Given the description of an element on the screen output the (x, y) to click on. 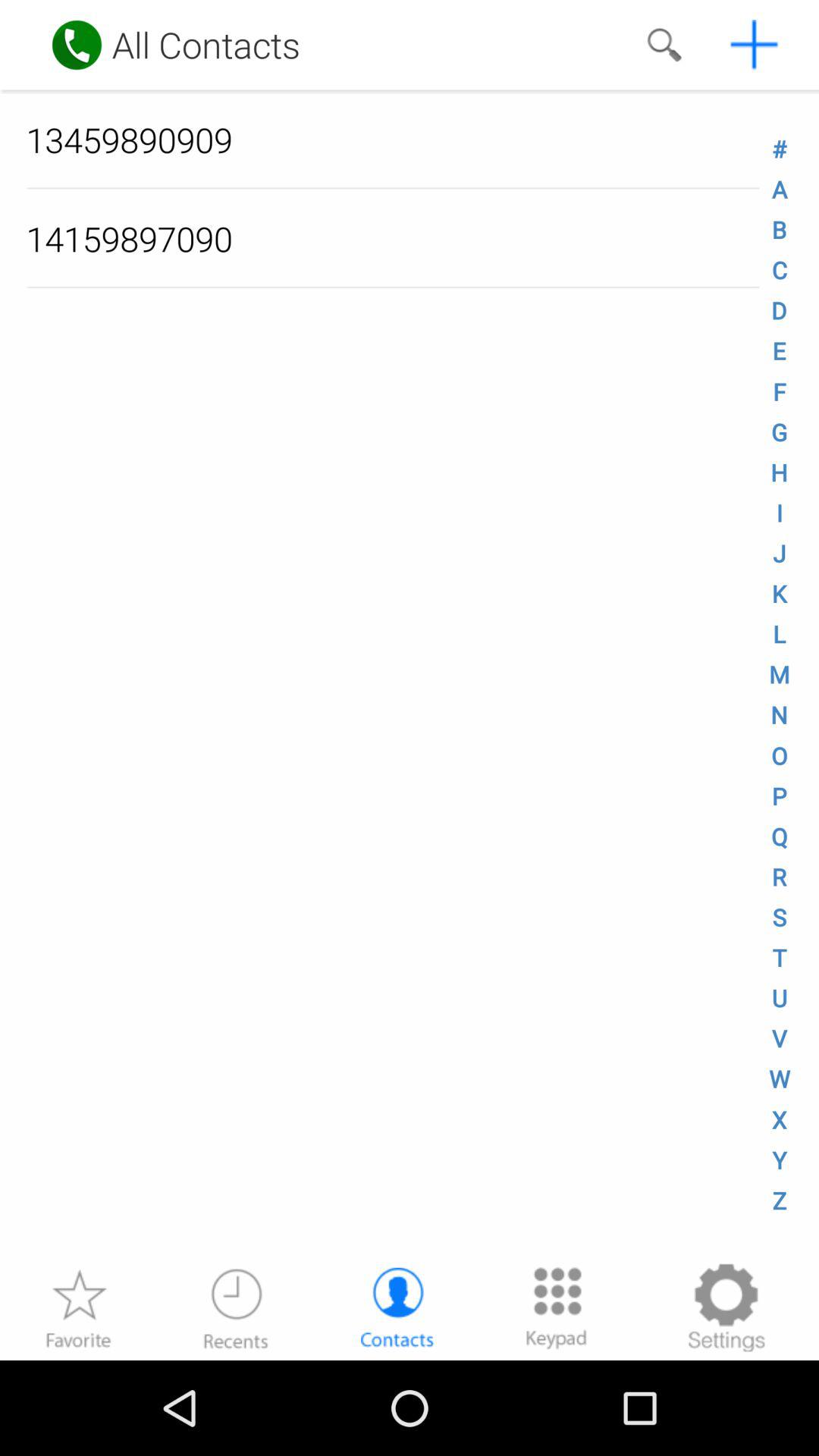
phone keypad (556, 1307)
